Given the description of an element on the screen output the (x, y) to click on. 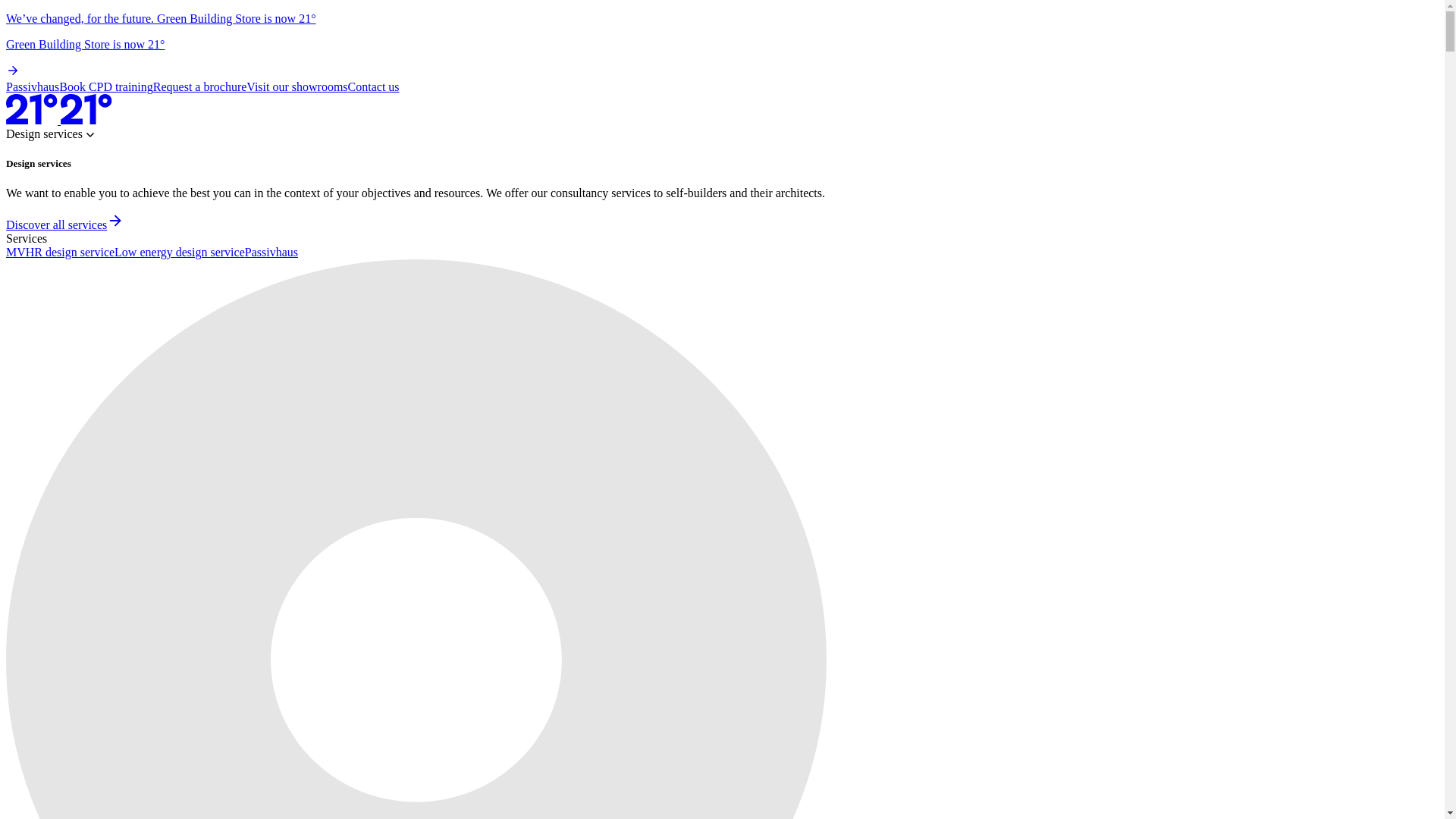
Contact us (372, 86)
Discover all services (64, 224)
Book CPD training (105, 86)
Visit our showrooms (296, 86)
Low energy design service (179, 251)
Passivhaus (271, 251)
MVHR design service (60, 251)
Request a brochure (199, 86)
Passivhaus (32, 86)
